Given the description of an element on the screen output the (x, y) to click on. 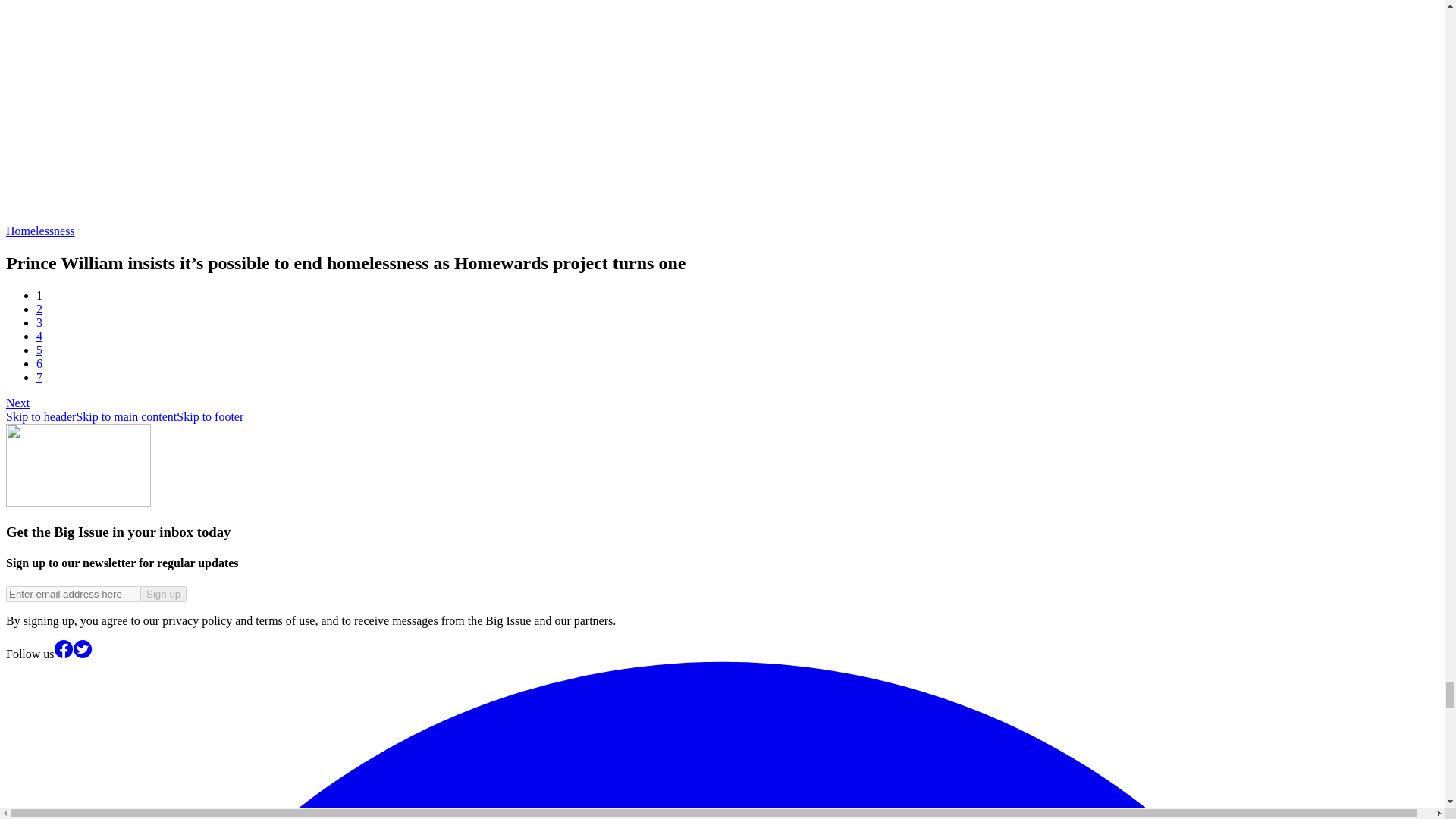
Button (162, 593)
Input field (72, 593)
